Given the description of an element on the screen output the (x, y) to click on. 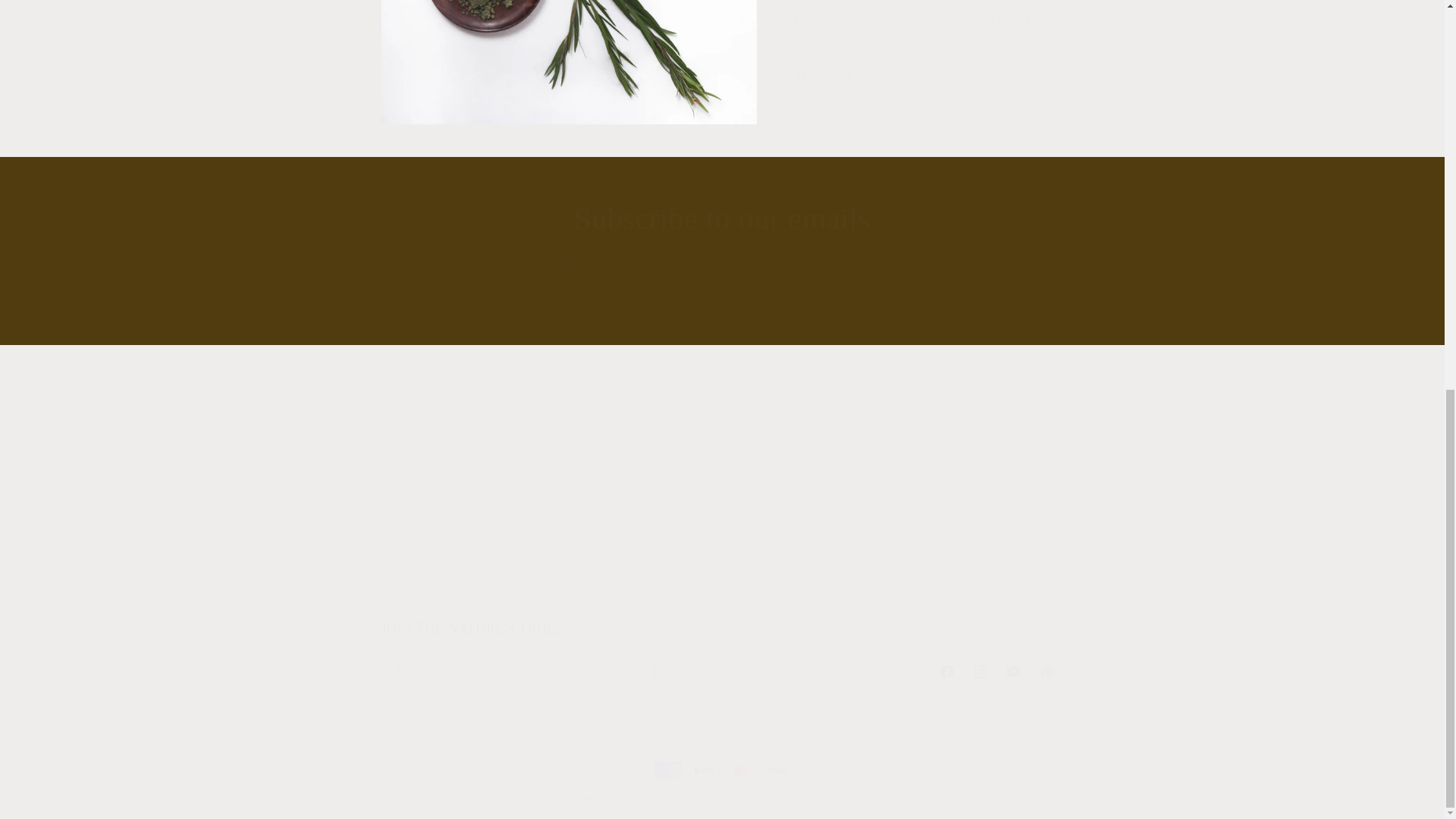
Email (721, 507)
Subscribe to our emails (722, 308)
